Given the description of an element on the screen output the (x, y) to click on. 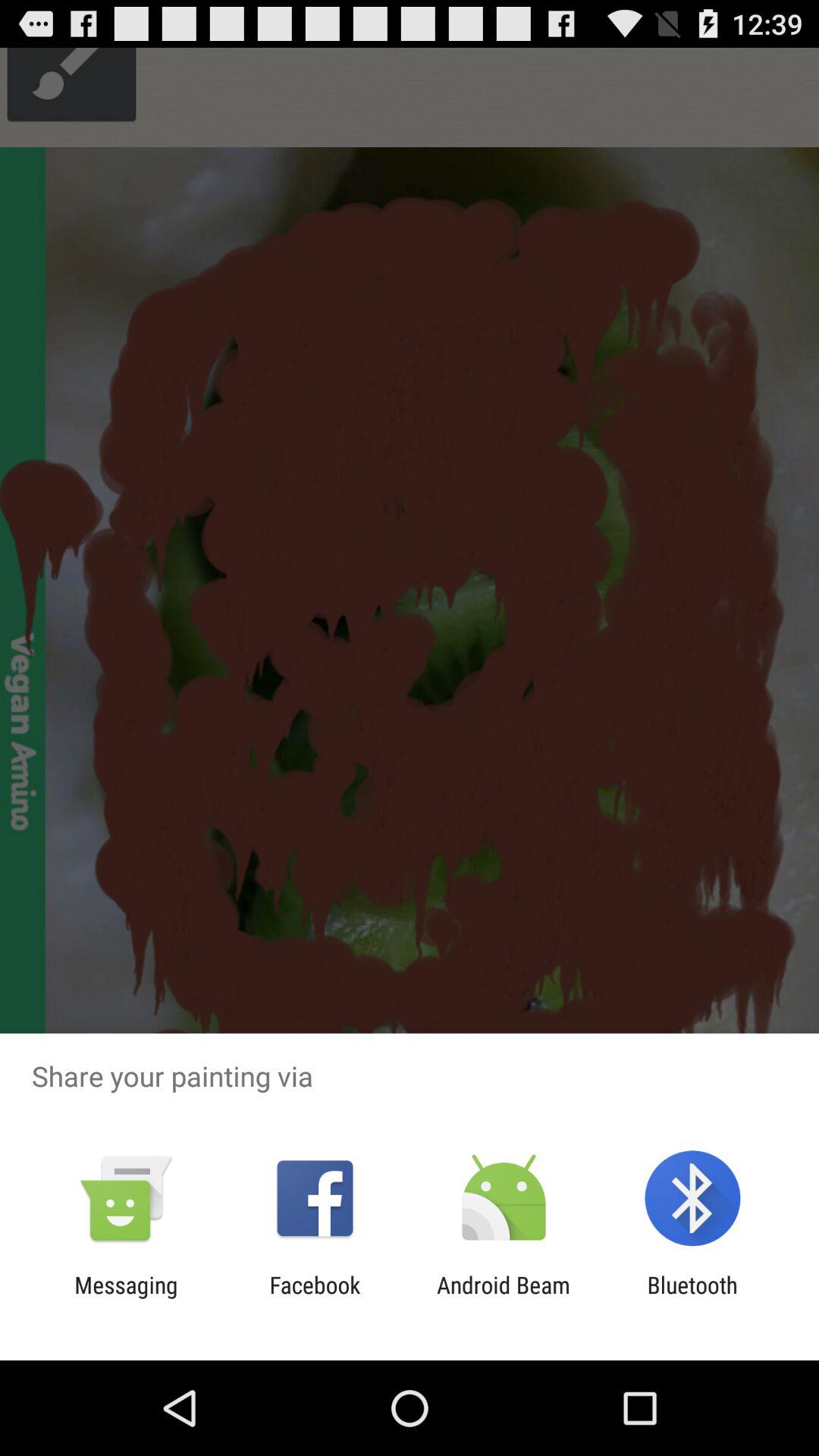
choose the app to the right of the facebook item (503, 1298)
